Given the description of an element on the screen output the (x, y) to click on. 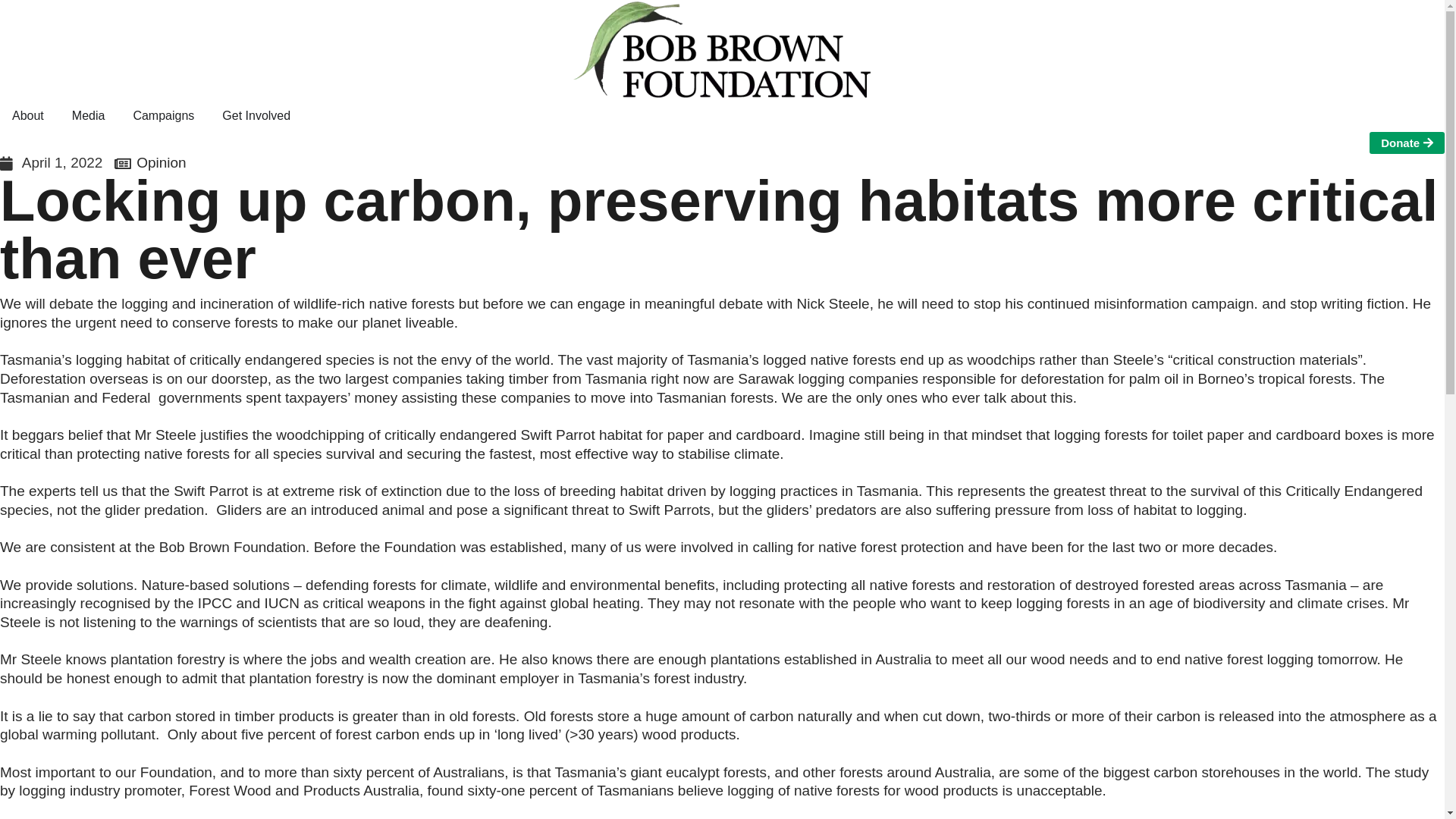
April 1, 2022 Element type: text (51, 162)
Donate Element type: text (1406, 142)
bbf_black Element type: hover (721, 50)
Campaigns Element type: text (163, 115)
Get Involved Element type: text (256, 115)
